Given the description of an element on the screen output the (x, y) to click on. 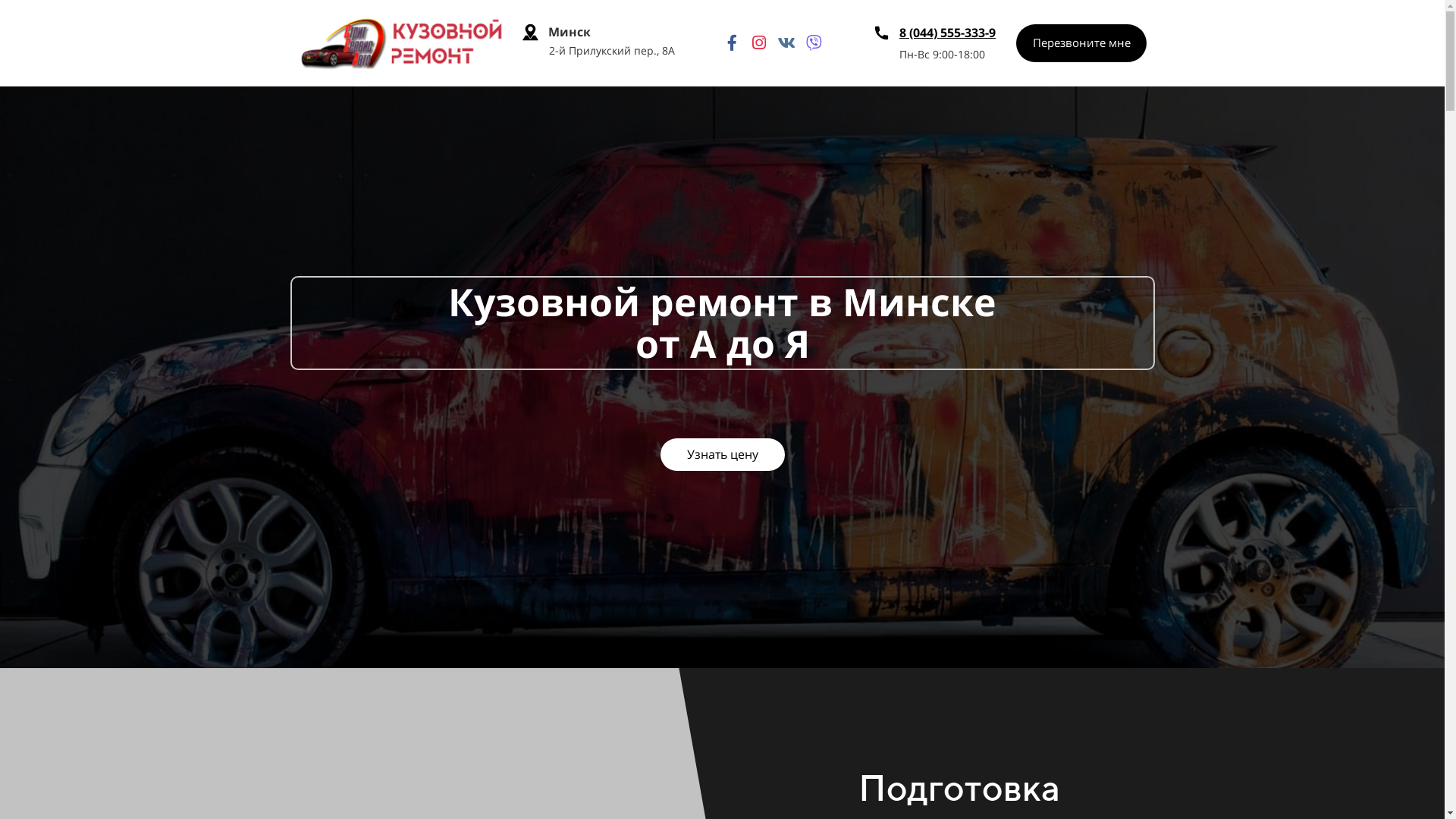
8 (044) 555-333-9 Element type: text (947, 32)
